Given the description of an element on the screen output the (x, y) to click on. 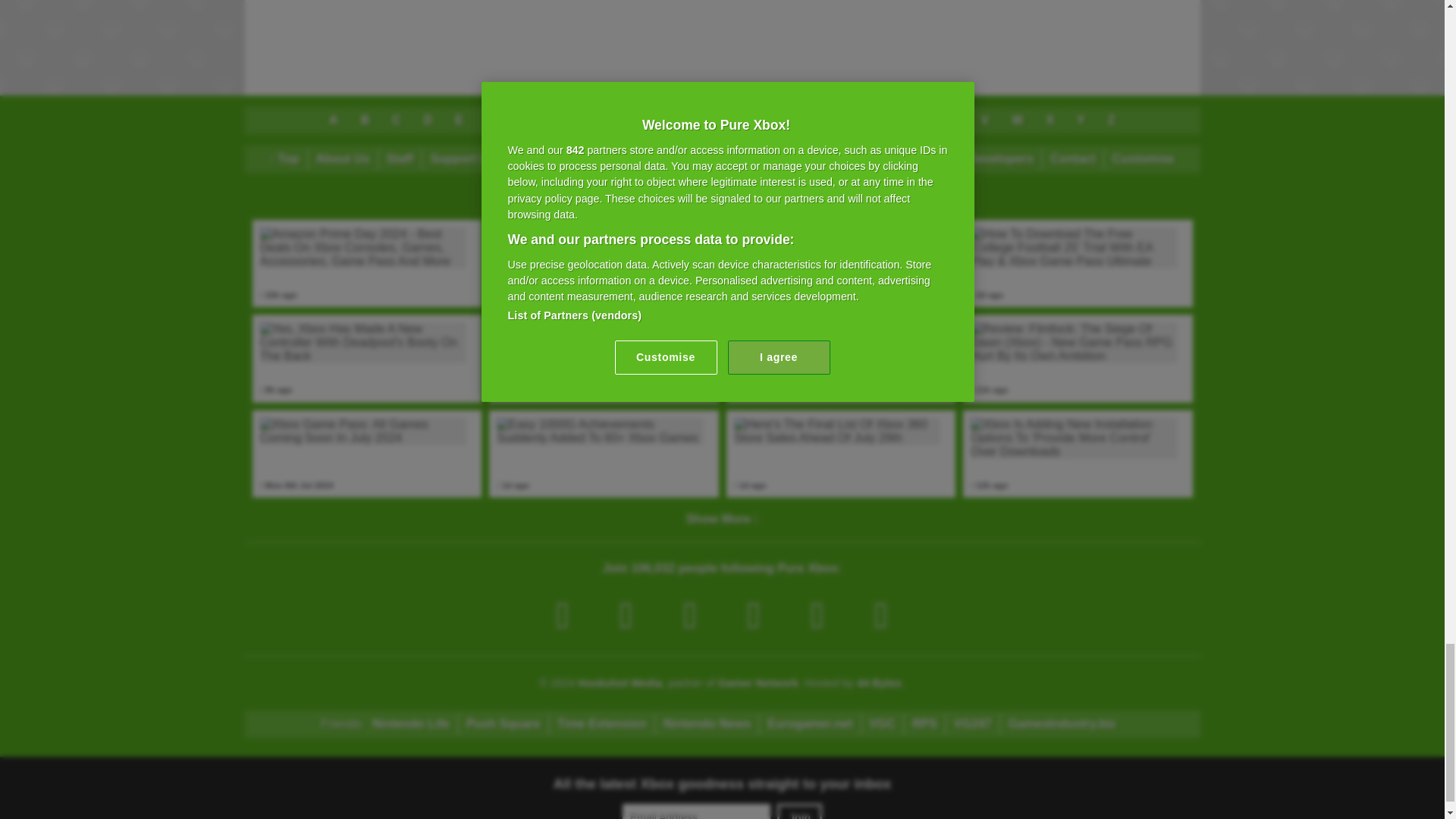
Join (799, 811)
